Given the description of an element on the screen output the (x, y) to click on. 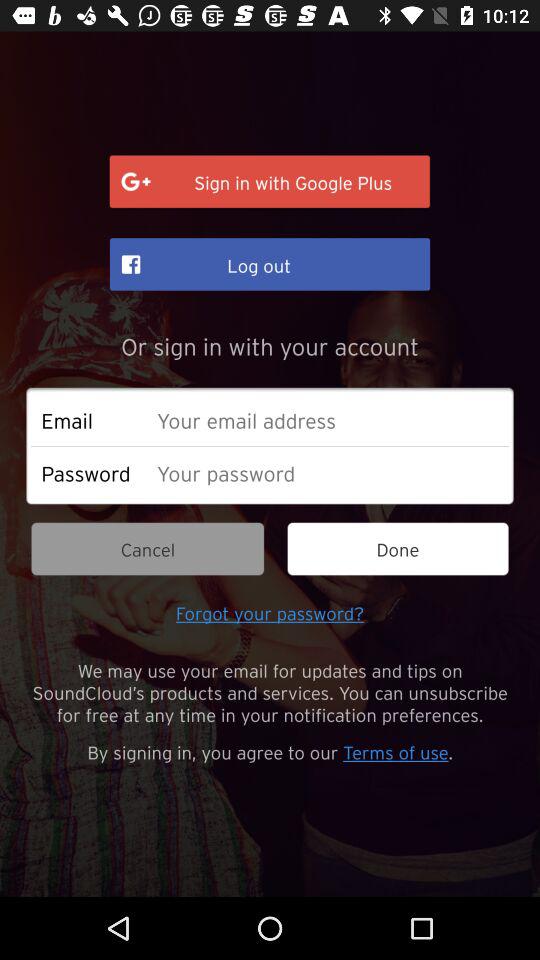
choose item below sign in with item (269, 264)
